Given the description of an element on the screen output the (x, y) to click on. 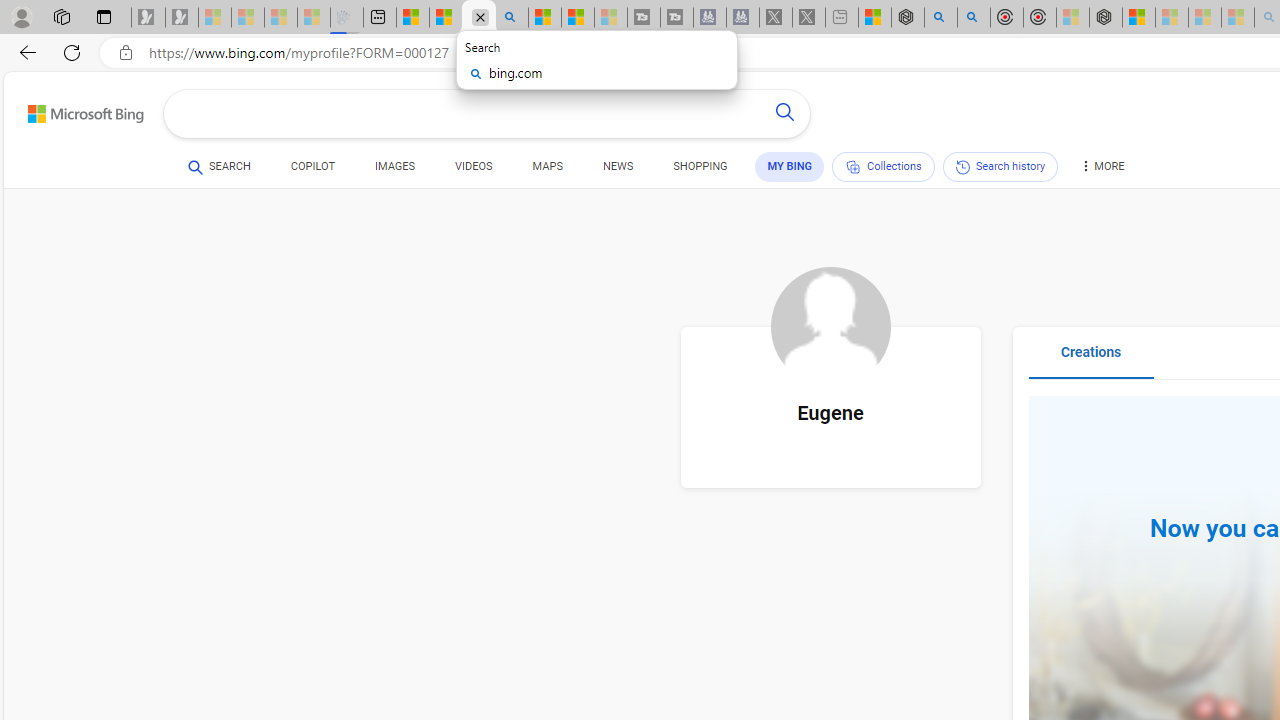
NEWS (618, 166)
poe ++ standard - Search (973, 17)
SHOPPING (699, 169)
Newsletter Sign Up - Sleeping (182, 17)
MY BING (789, 167)
MAPS (546, 169)
CollectionsSearch history (944, 169)
VIDEOS (473, 169)
